Given the description of an element on the screen output the (x, y) to click on. 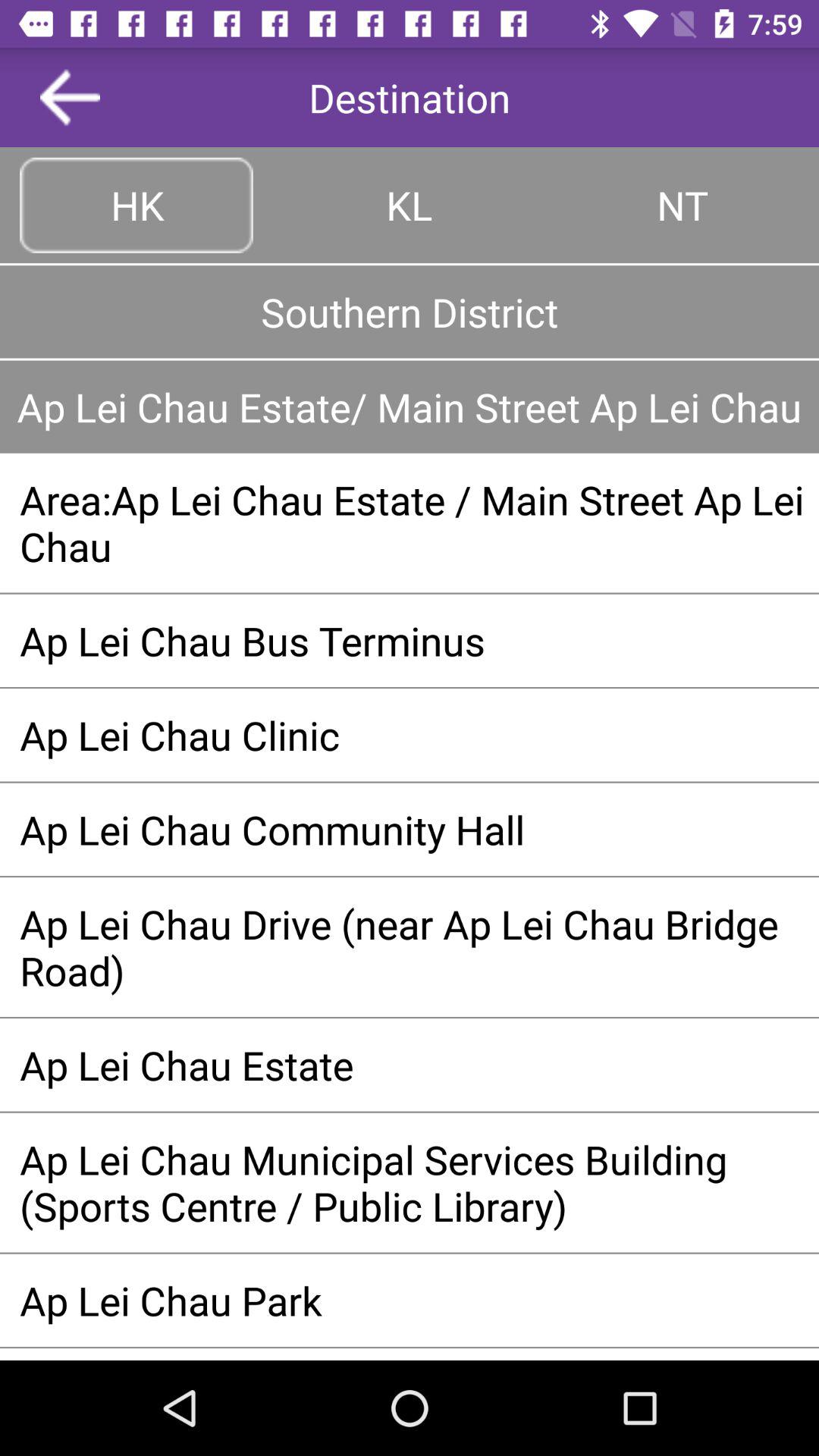
launch the button above hk (69, 97)
